Given the description of an element on the screen output the (x, y) to click on. 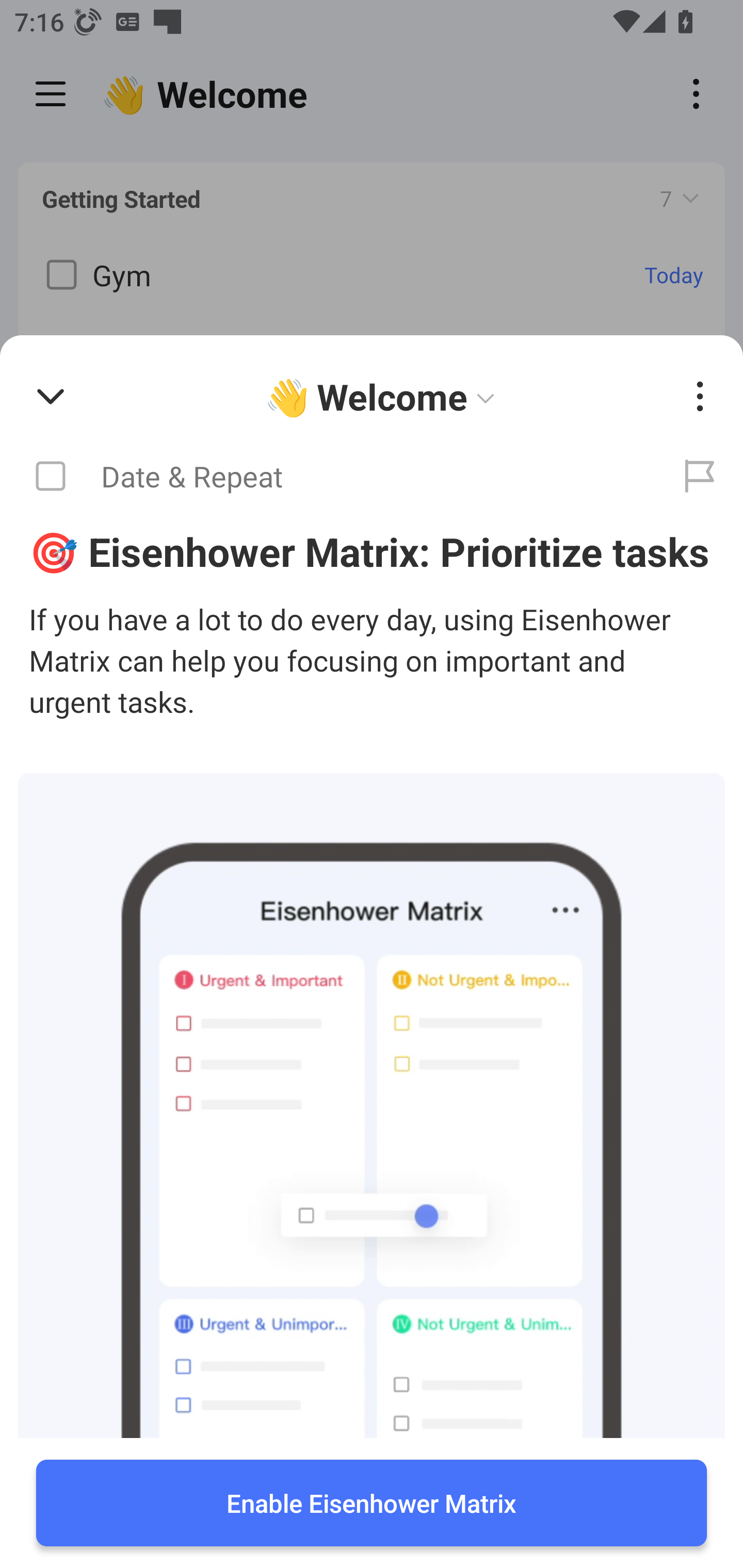
👋 Welcome (384, 396)
Date & Repeat (328, 476)
🎯 Eisenhower Matrix: Prioritize tasks (371, 551)
Enable Eisenhower Matrix (371, 1502)
